Given the description of an element on the screen output the (x, y) to click on. 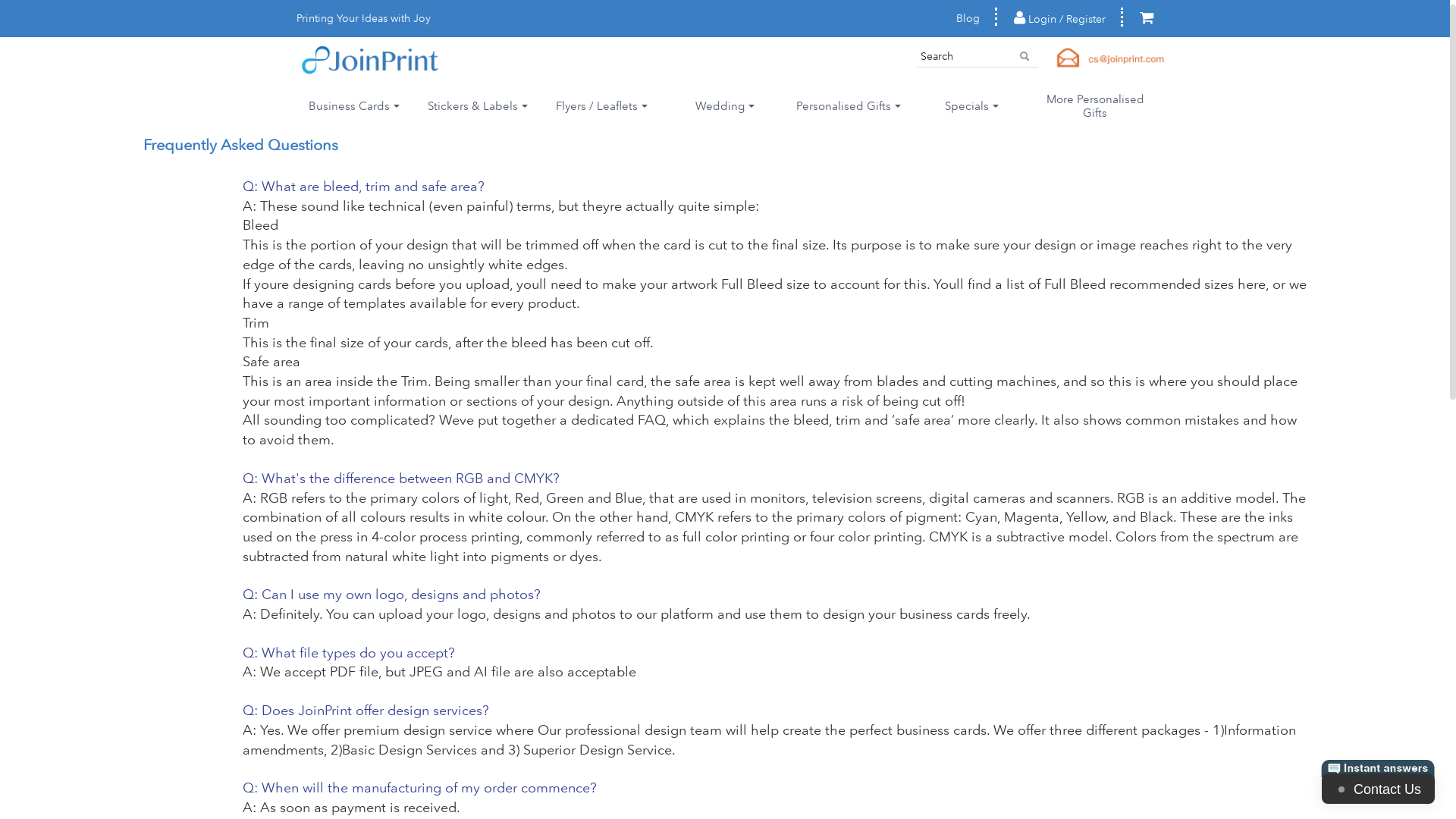
Blog Element type: text (967, 18)
Wedding Element type: text (725, 106)
Stickers & Labels Element type: text (477, 106)
Flyers / Leaflets Element type: text (601, 106)
email Element type: hover (1110, 58)
Business Cards Element type: text (354, 106)
More Personalised Gifts Element type: text (1095, 106)
Login / Register Element type: text (1059, 19)
JoinPrint Element type: hover (369, 60)
Specials Element type: text (971, 106)
Personalised Gifts Element type: text (848, 106)
